Given the description of an element on the screen output the (x, y) to click on. 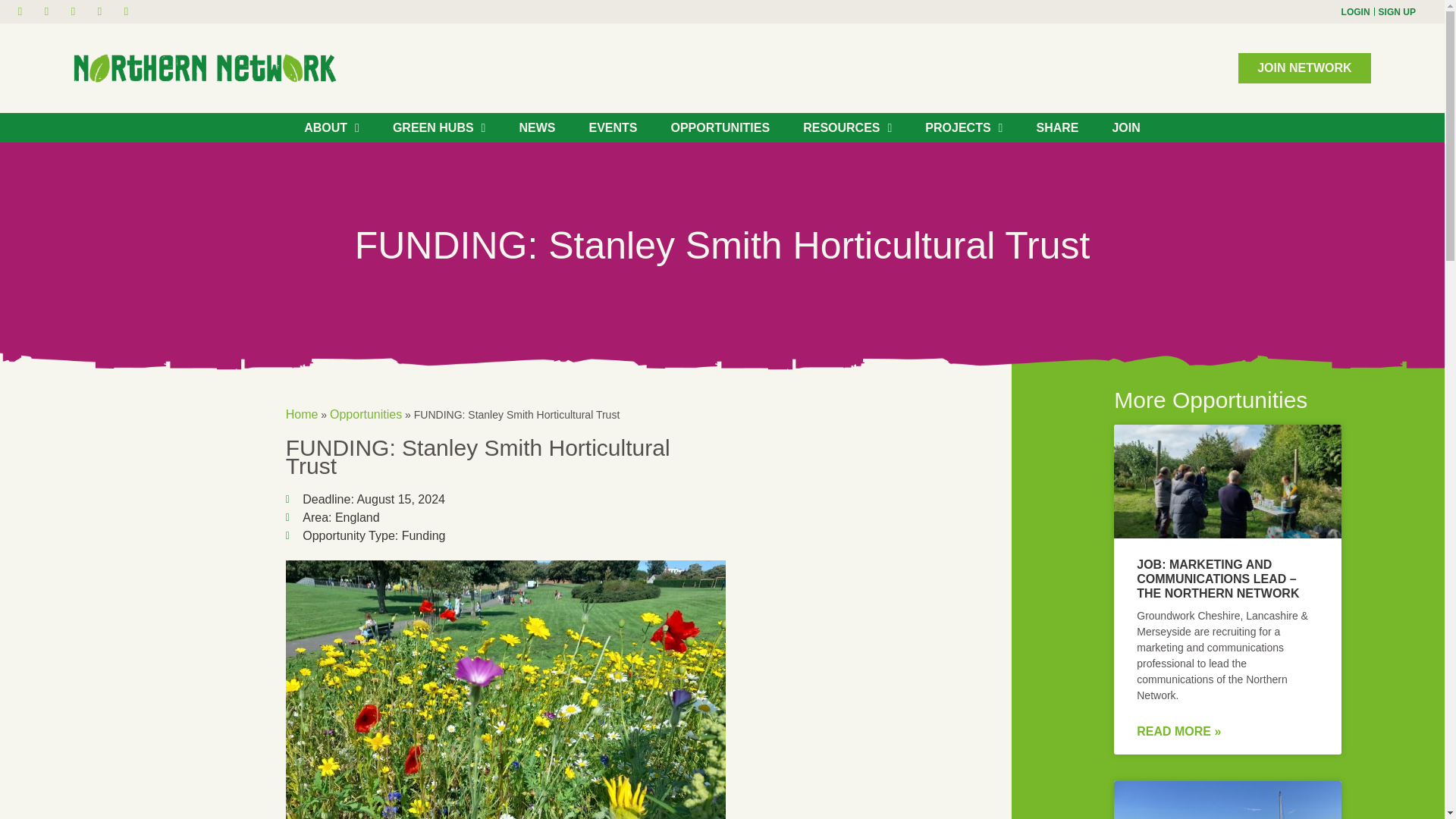
ABOUT (330, 127)
RESOURCES (847, 127)
EVENTS (612, 127)
JOIN NETWORK (1304, 67)
GREEN HUBS (438, 127)
LOGIN (1355, 11)
NEWS (537, 127)
SIGN UP (1396, 11)
OPPORTUNITIES (719, 127)
